Given the description of an element on the screen output the (x, y) to click on. 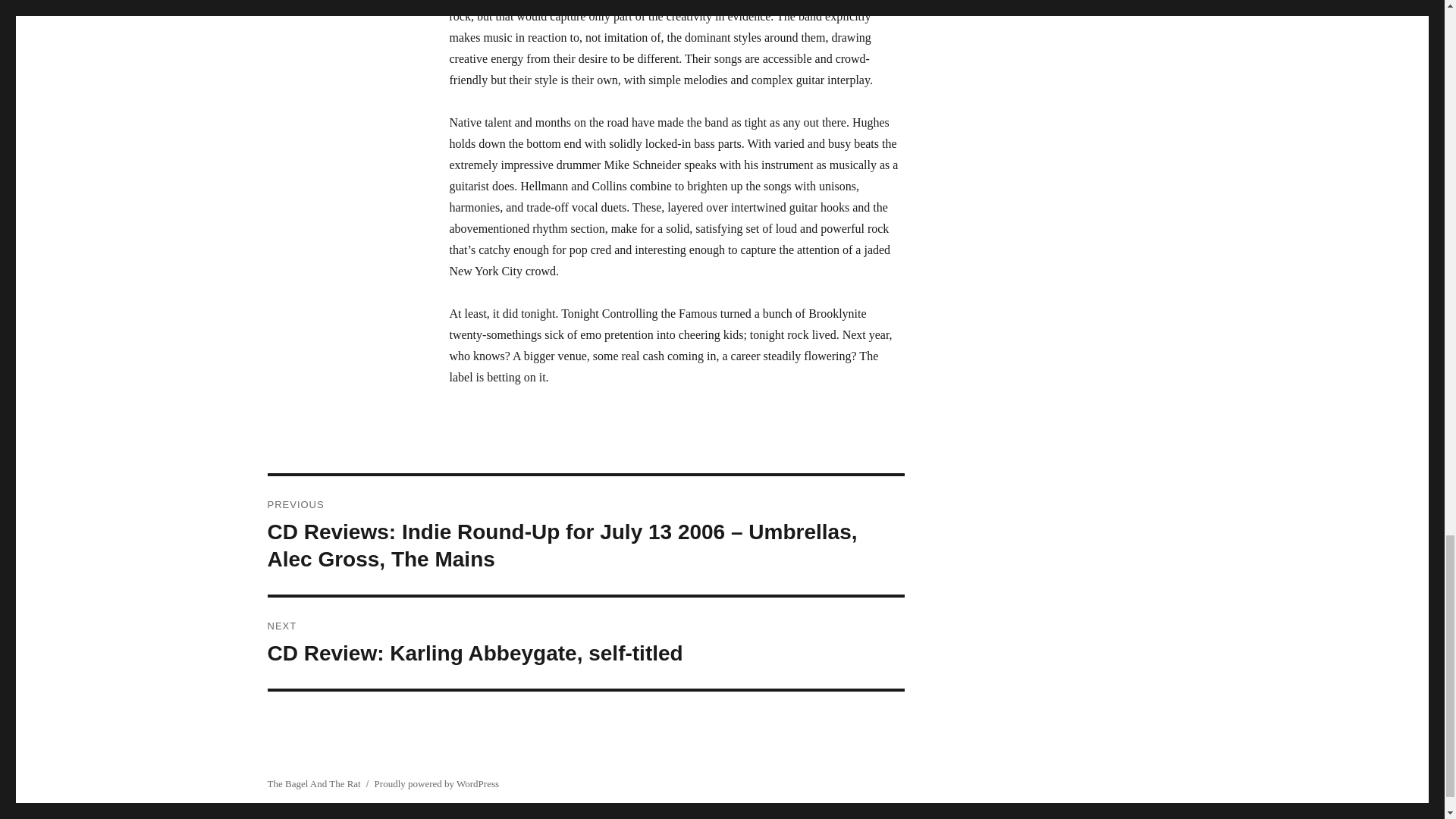
The Bagel And The Rat (585, 642)
Proudly powered by WordPress (312, 783)
